Given the description of an element on the screen output the (x, y) to click on. 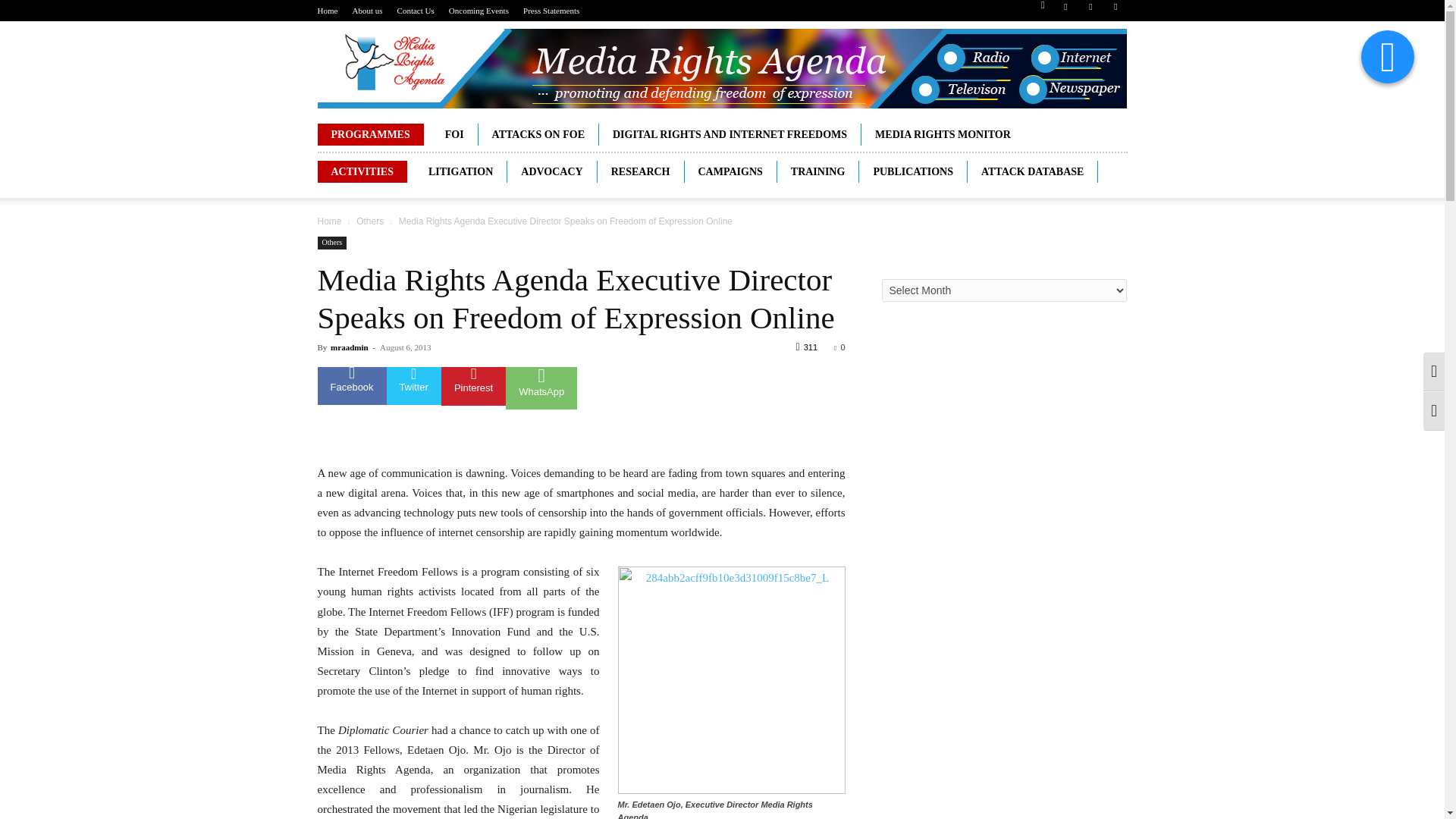
About us (366, 10)
Press Statements (550, 10)
Oncoming Events (478, 10)
Contact Us (415, 10)
Home (327, 10)
Search (1085, 64)
